Given the description of an element on the screen output the (x, y) to click on. 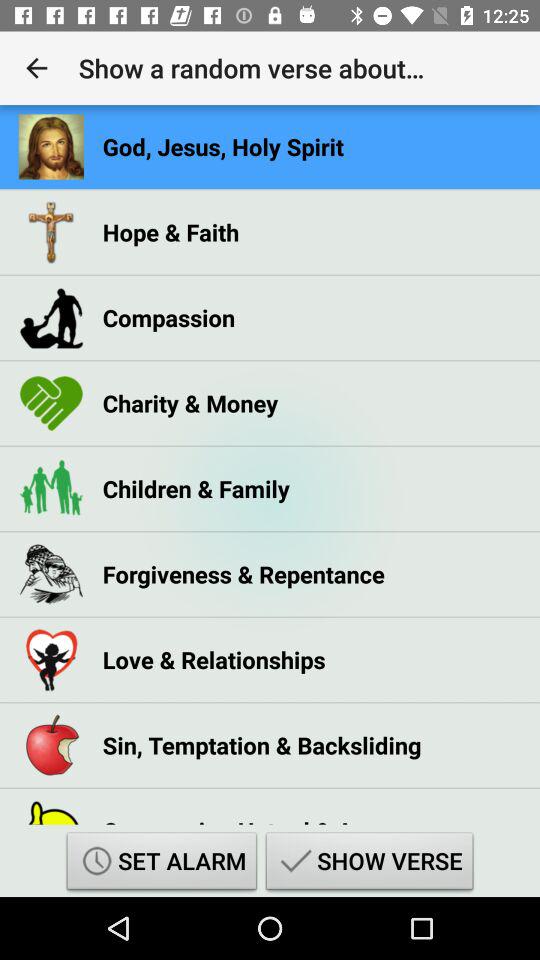
scroll to children & family item (196, 488)
